Given the description of an element on the screen output the (x, y) to click on. 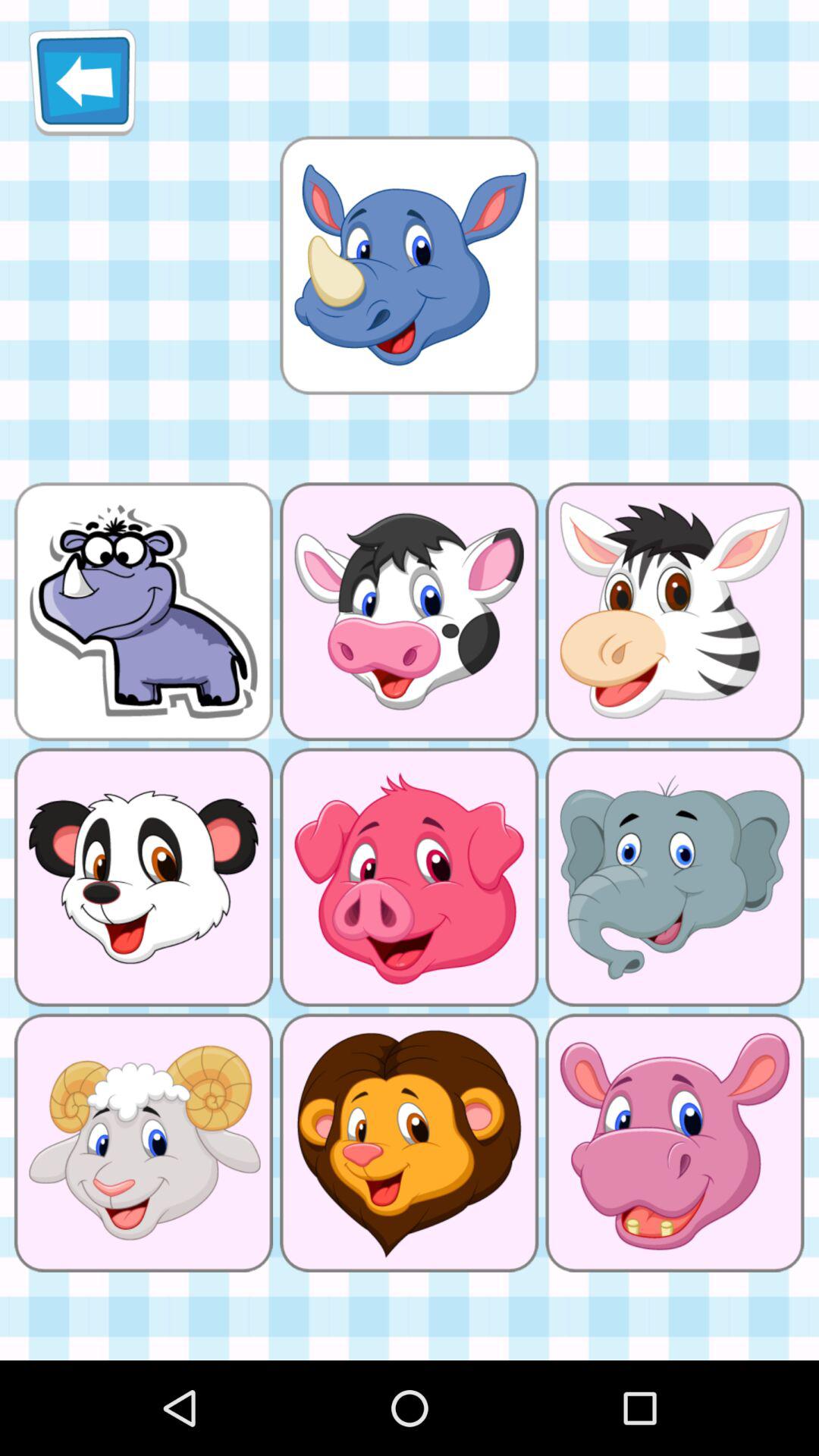
go back button (82, 82)
